Given the description of an element on the screen output the (x, y) to click on. 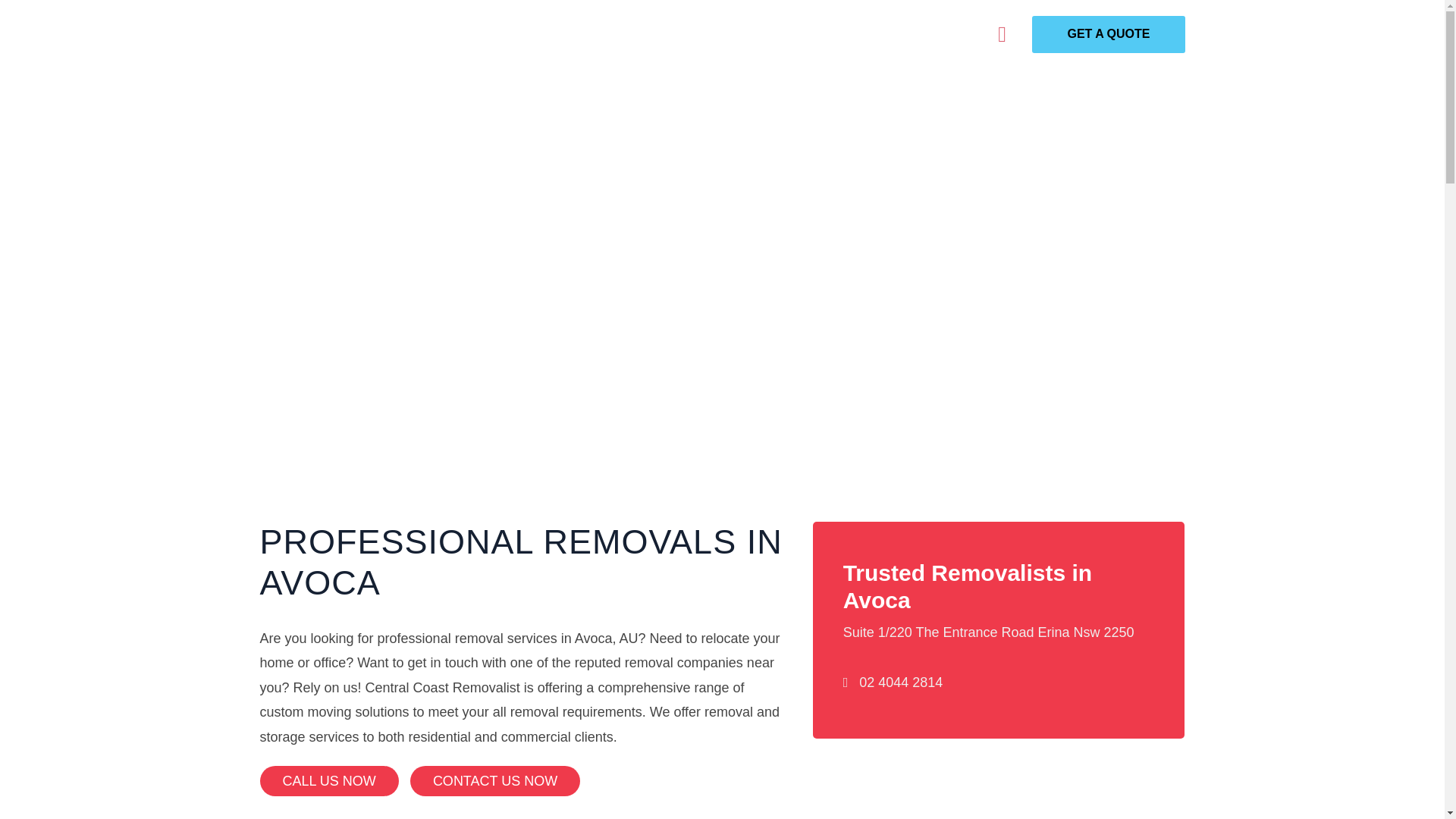
CONTACT US NOW (494, 780)
BLOG (858, 31)
CALL US NOW (328, 780)
GET A QUOTE (1108, 34)
AREA (798, 31)
ABOUT (566, 31)
CONTACT (931, 31)
CONTACT (931, 31)
REMOVALS SERVICES (684, 31)
02 4044 2814 (900, 682)
HOME (500, 31)
BLOG (858, 31)
ABOUT (566, 31)
AREA (798, 31)
HOME (500, 31)
